Given the description of an element on the screen output the (x, y) to click on. 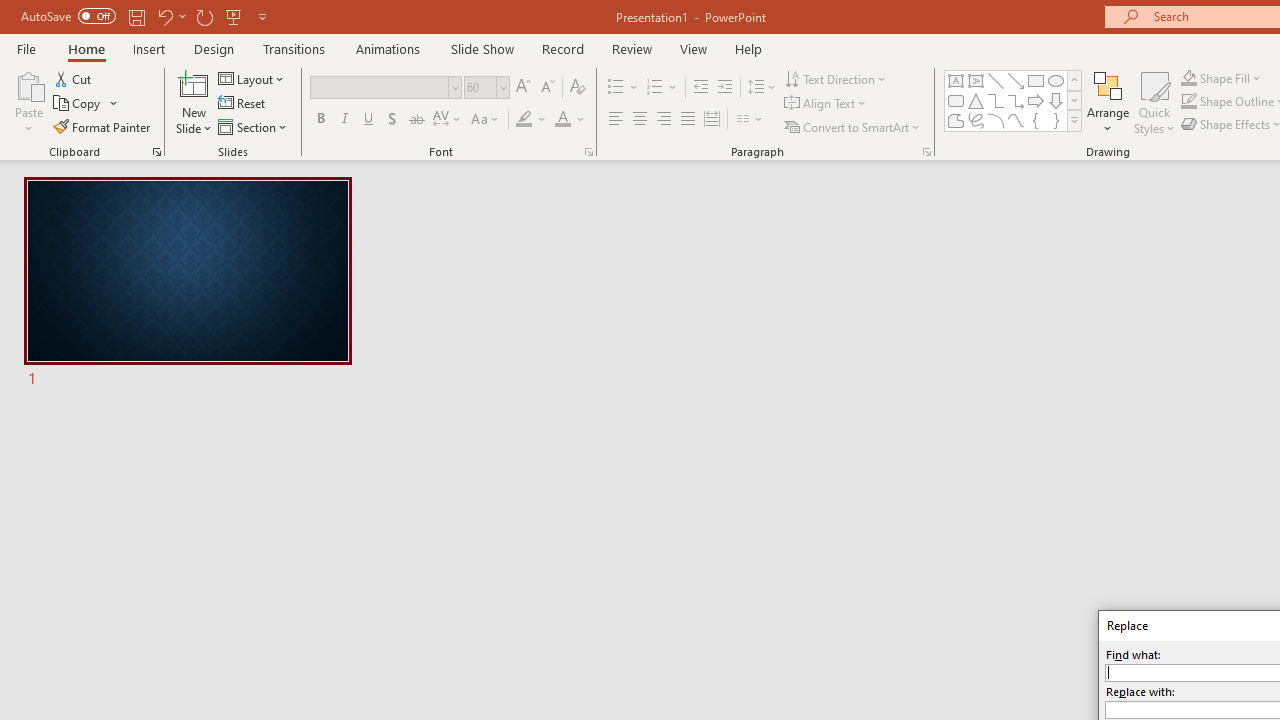
Left Brace (1035, 120)
Shadow (392, 119)
Isosceles Triangle (975, 100)
Shapes (1074, 120)
Arrow: Right (1035, 100)
Quick Styles (1154, 102)
Italic (344, 119)
